Given the description of an element on the screen output the (x, y) to click on. 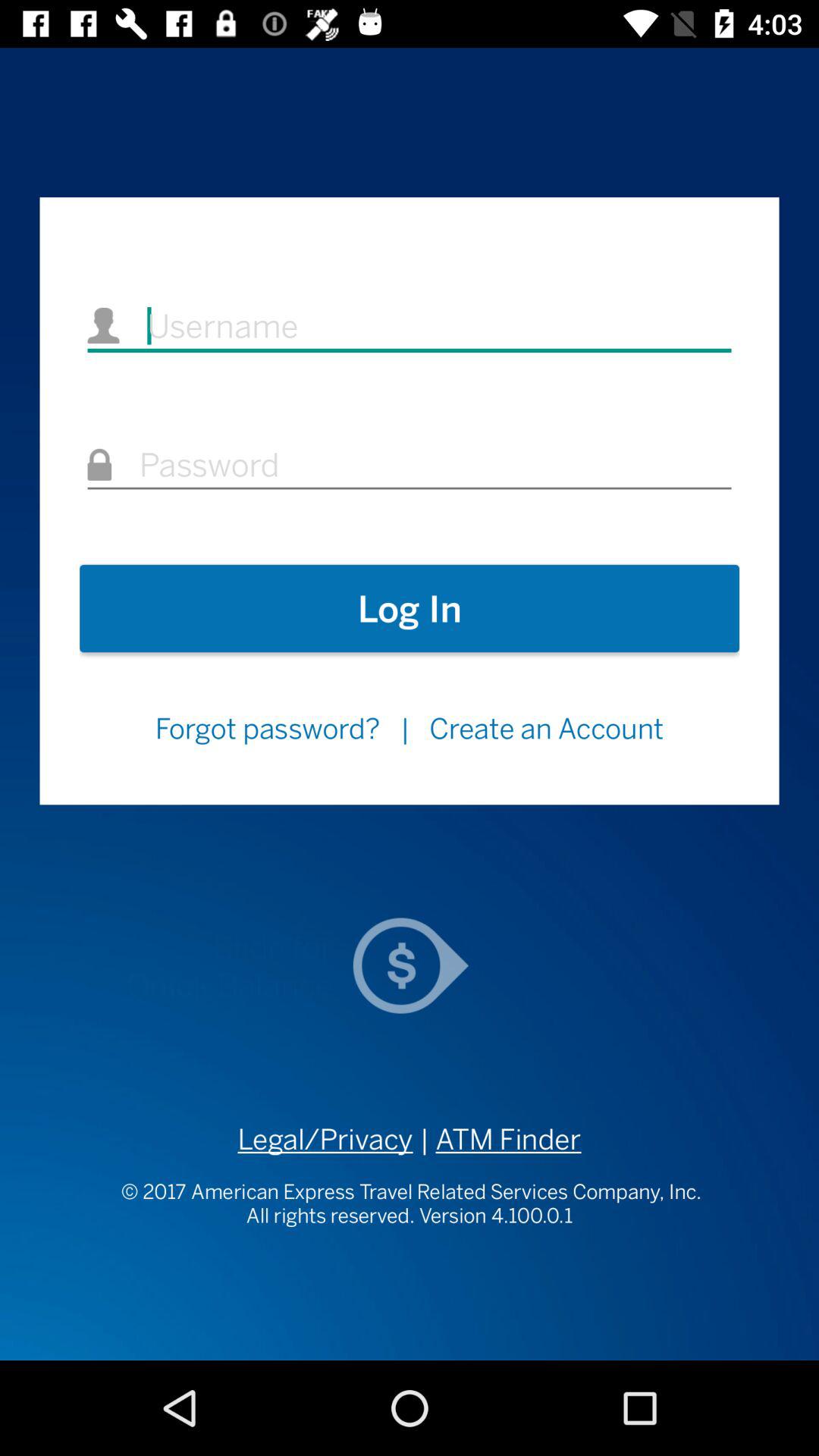
jump to forgot password? item (266, 728)
